Given the description of an element on the screen output the (x, y) to click on. 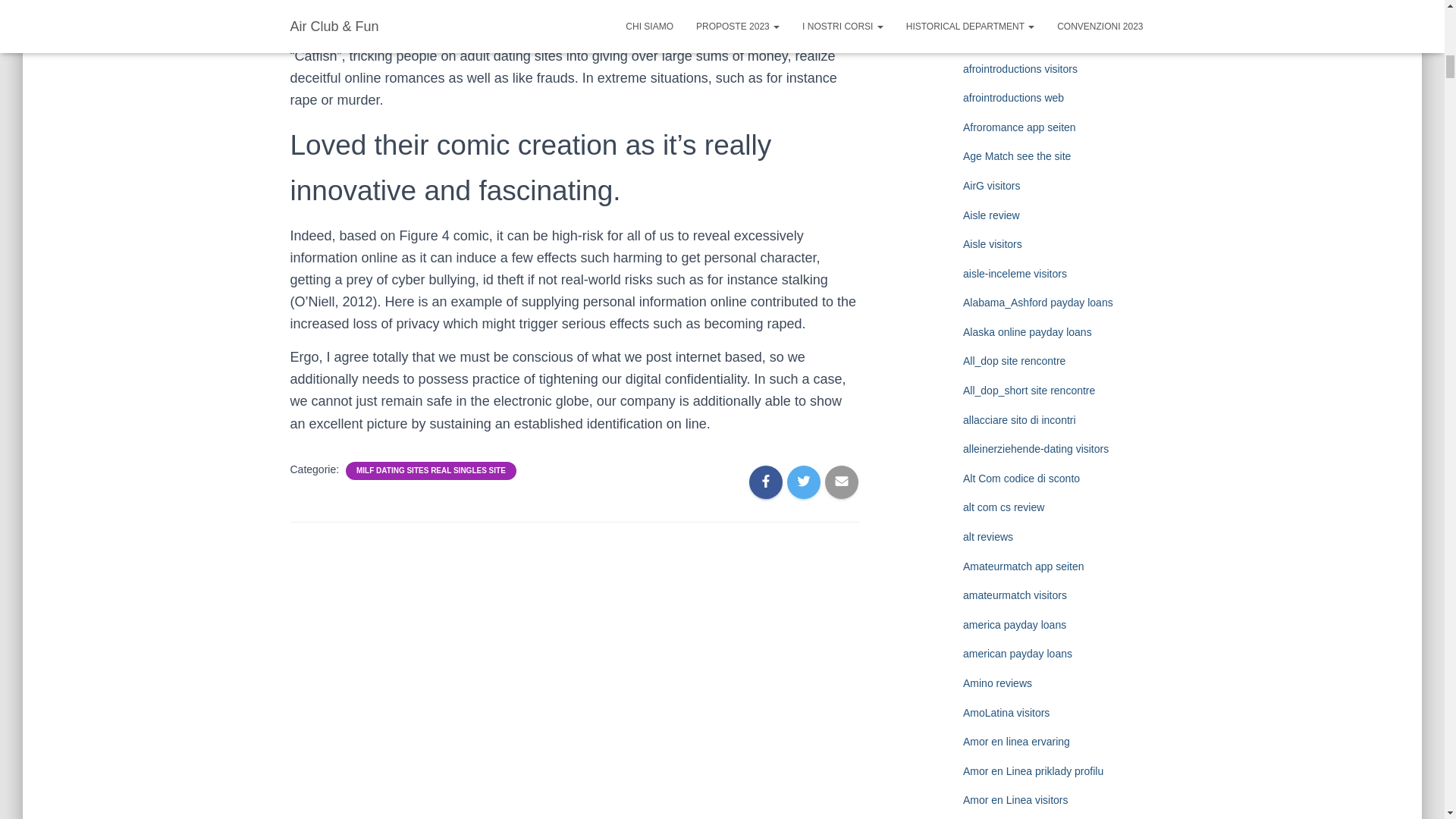
MILF DATING SITES REAL SINGLES SITE (430, 470)
